Given the description of an element on the screen output the (x, y) to click on. 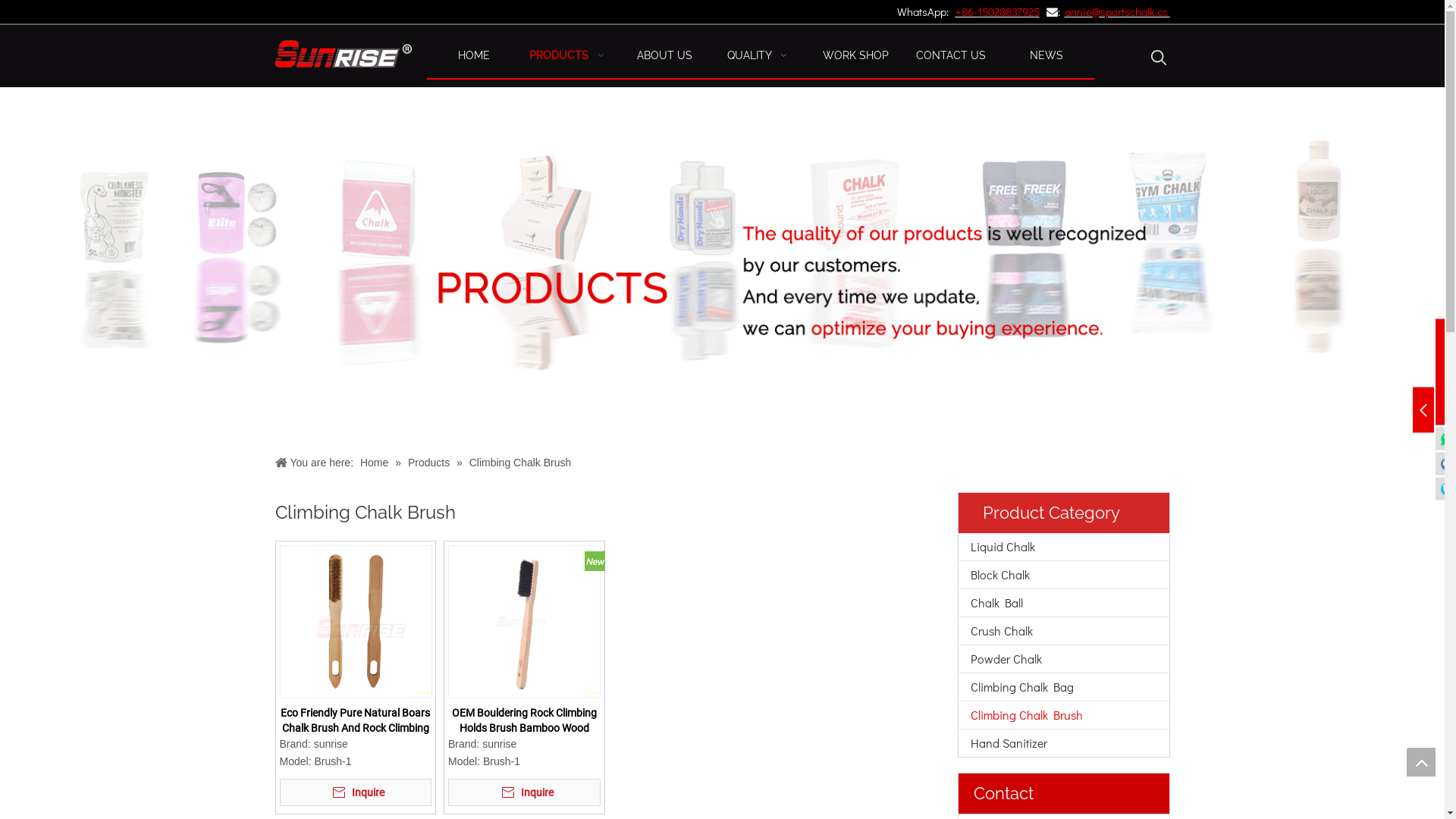
Liquid Chalk Element type: text (1063, 546)
ABOUT US Element type: text (664, 55)
Chalk Ball Element type: text (1063, 602)
Climbing Chalk Brush Element type: text (1063, 714)
PRODUCTS   Element type: text (569, 55)
Products Element type: text (429, 462)
QUALITY   Element type: text (760, 55)
top Element type: text (1420, 761)
WORK SHOP Element type: text (855, 55)
Hand Sanitizer Element type: text (1063, 742)
NEWS Element type: text (1046, 55)
sunrise-inc-logo Element type: hover (342, 53)
Block Chalk Element type: text (1063, 574)
Powder Chalk Element type: text (1063, 658)
Crush Chalk Element type: text (1063, 630)
CONTACT US Element type: text (950, 55)
 Inquire Element type: text (524, 792)
Home Element type: text (375, 462)
Climbing Chalk Bag Element type: text (1063, 686)
HOME Element type: text (473, 55)
+86- Element type: text (966, 10)
 Inquire Element type: text (355, 792)
